Given the description of an element on the screen output the (x, y) to click on. 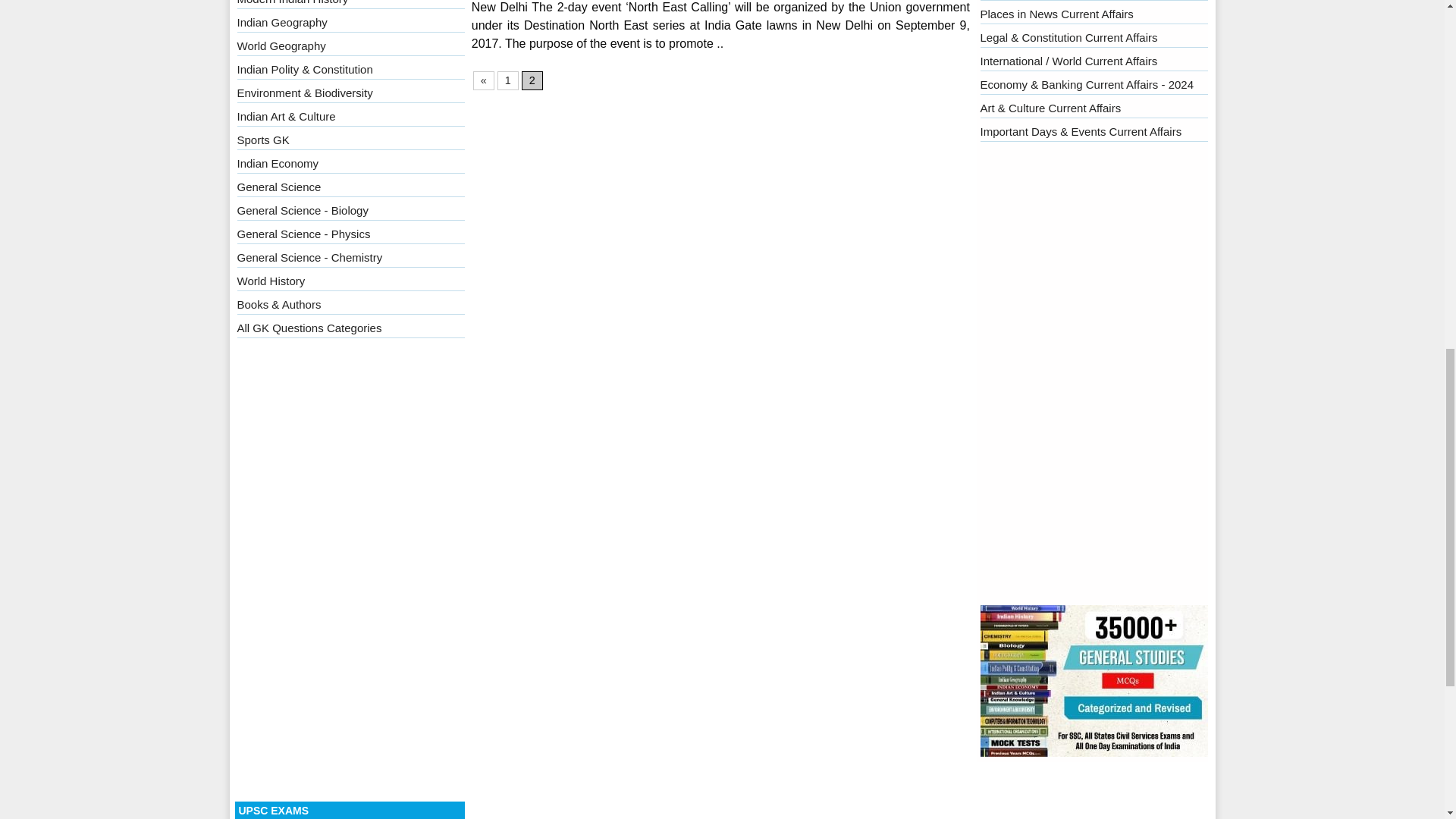
Advertisement (1093, 376)
Page 1 (507, 80)
1 (507, 80)
Advertisement (349, 572)
